Given the description of an element on the screen output the (x, y) to click on. 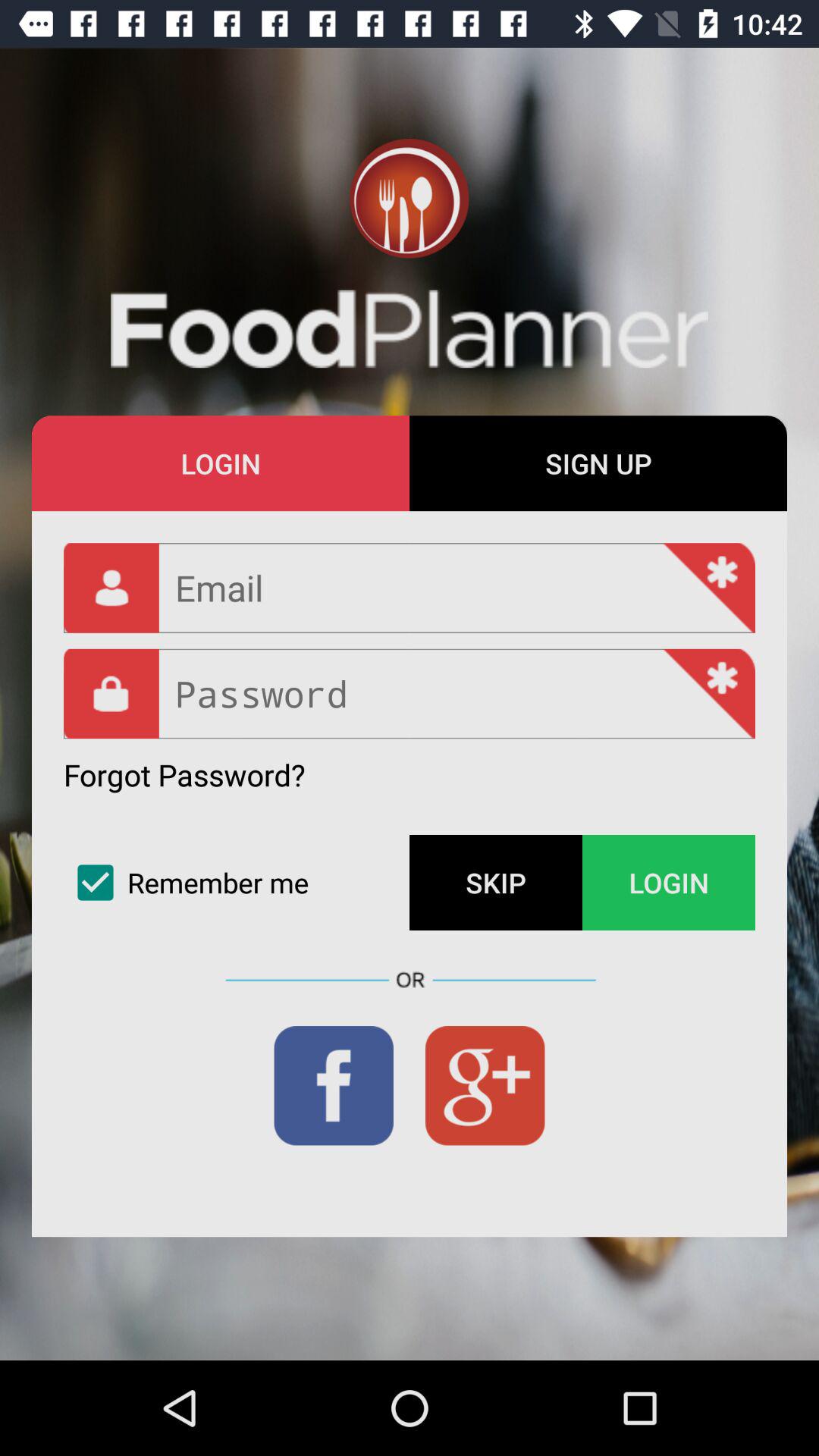
scroll to the remember me (236, 882)
